Given the description of an element on the screen output the (x, y) to click on. 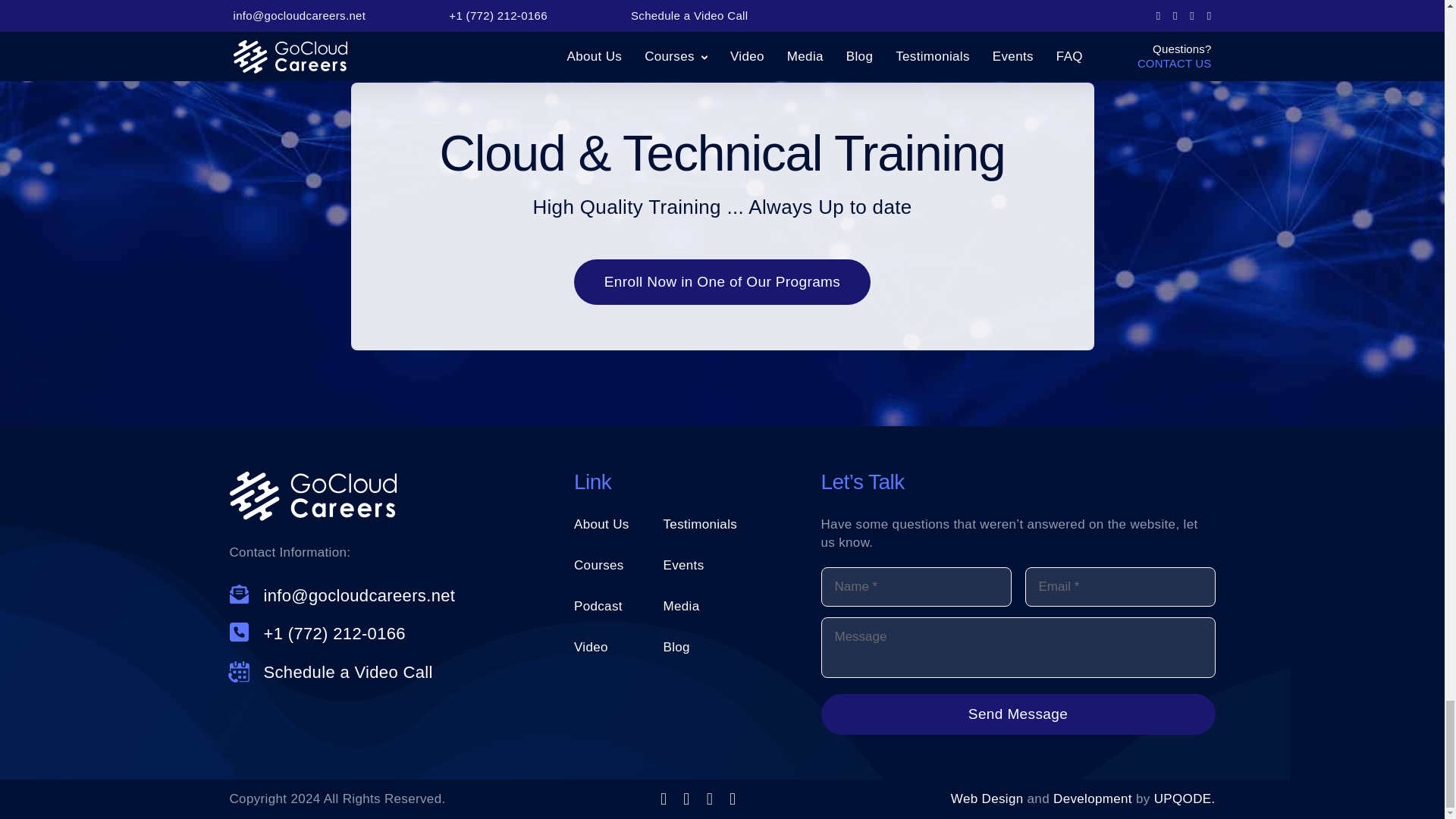
Send Message (1017, 714)
